Given the description of an element on the screen output the (x, y) to click on. 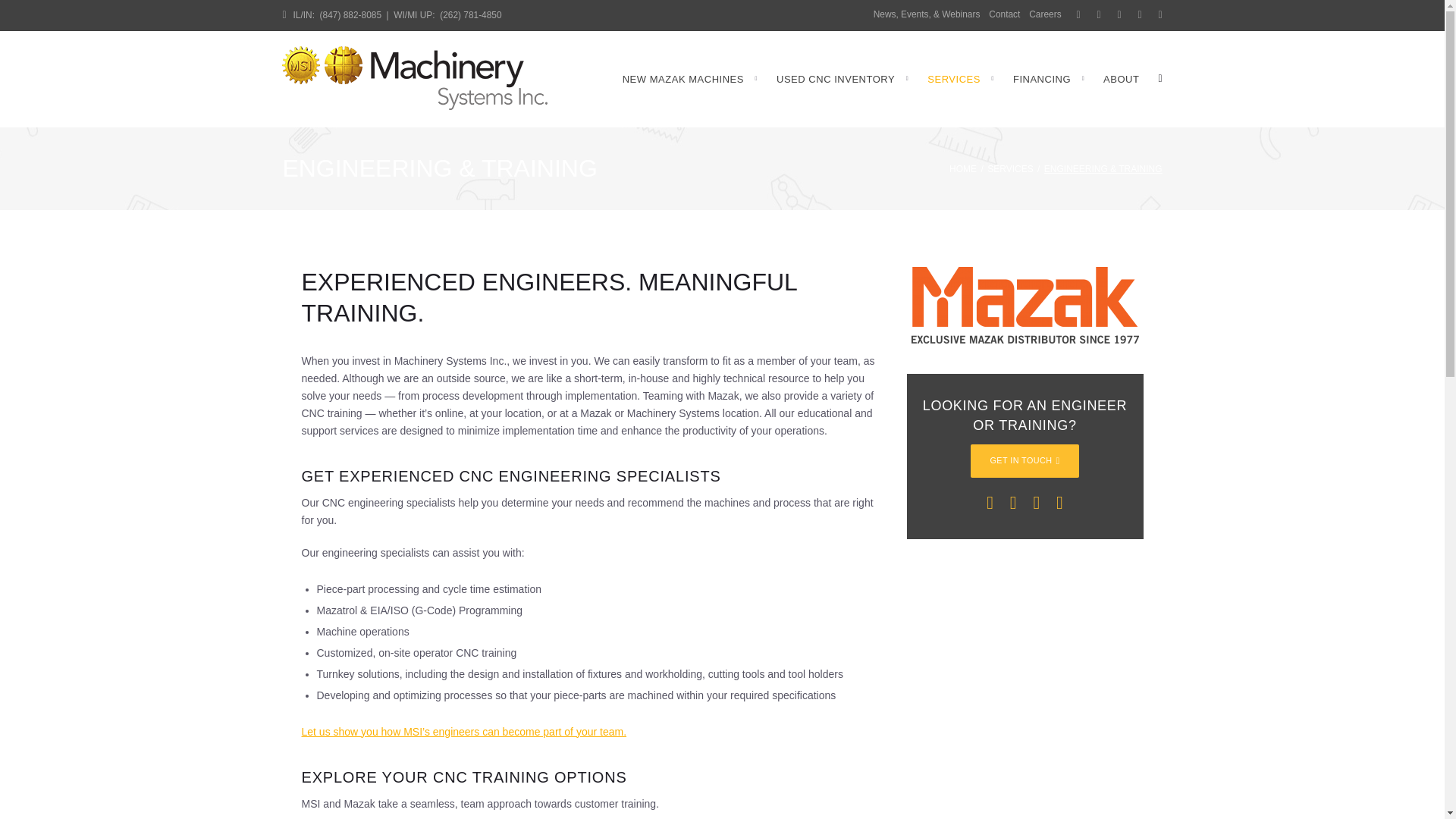
Services (1009, 168)
NEW MAZAK MACHINES (690, 78)
SERVICES (1009, 168)
Contact (1004, 14)
Home (962, 168)
USED CNC INVENTORY (842, 78)
ABOUT (1120, 78)
FINANCING (1048, 78)
Careers (1045, 14)
HOME (962, 168)
SERVICES (960, 78)
